Given the description of an element on the screen output the (x, y) to click on. 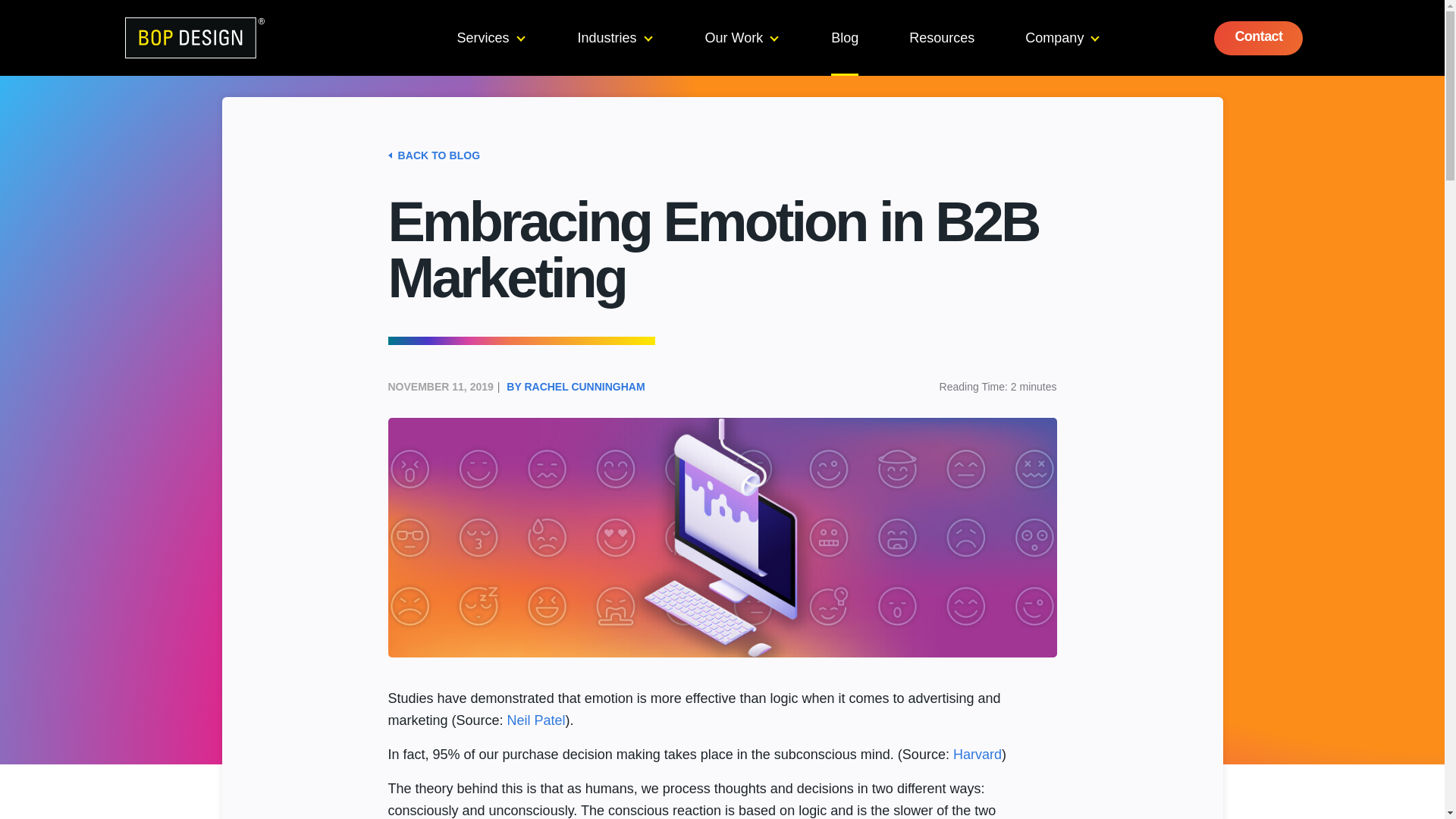
Services (490, 37)
Industries (615, 37)
Our Work (741, 37)
